Given the description of an element on the screen output the (x, y) to click on. 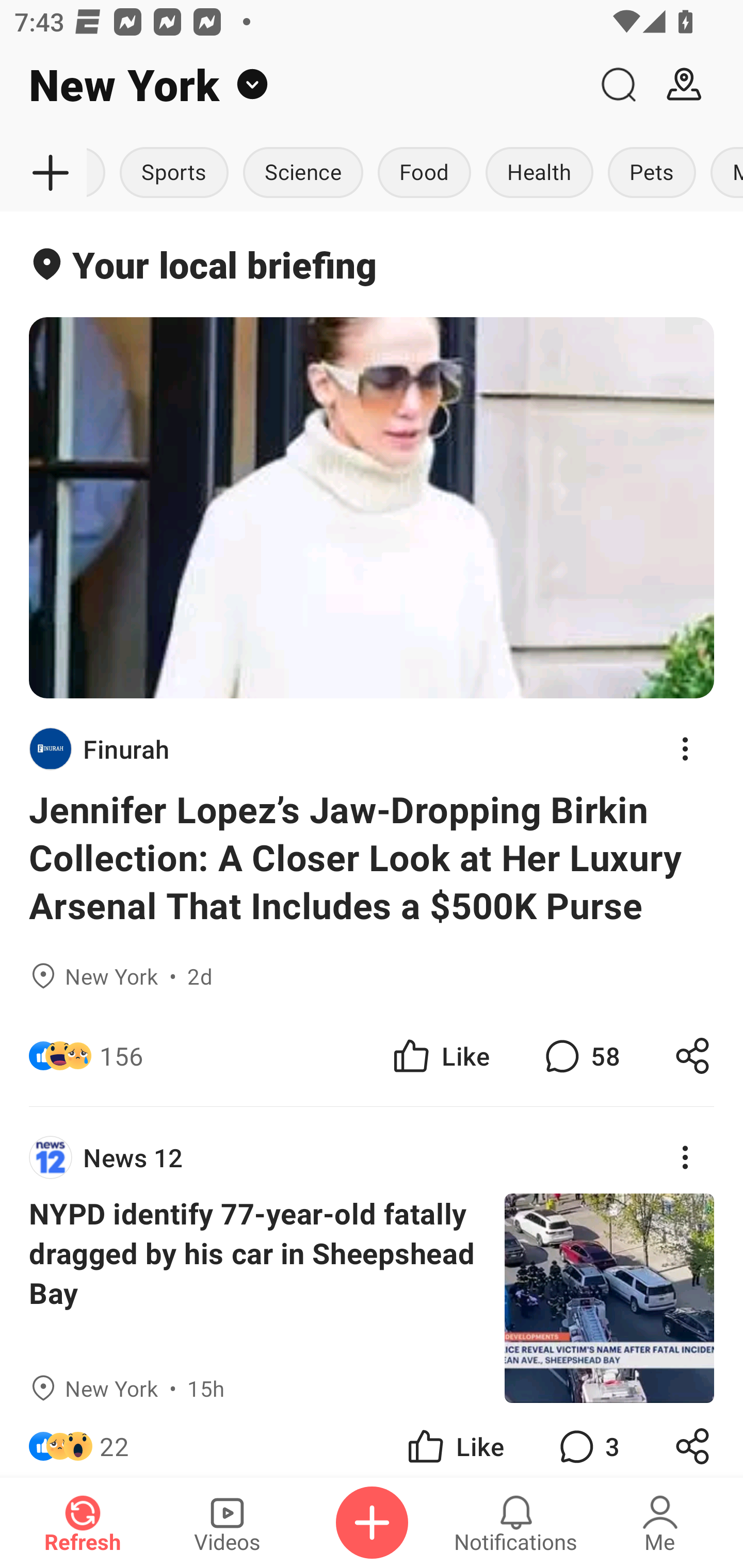
New York (292, 84)
Entertainment (99, 172)
Sports (173, 172)
Science (302, 172)
Food (424, 172)
Health (539, 172)
Pets (651, 172)
156 (121, 1055)
Like (439, 1055)
58 (579, 1055)
22 (114, 1440)
Like (454, 1440)
3 (587, 1440)
Videos (227, 1522)
Notifications (516, 1522)
Me (659, 1522)
